Given the description of an element on the screen output the (x, y) to click on. 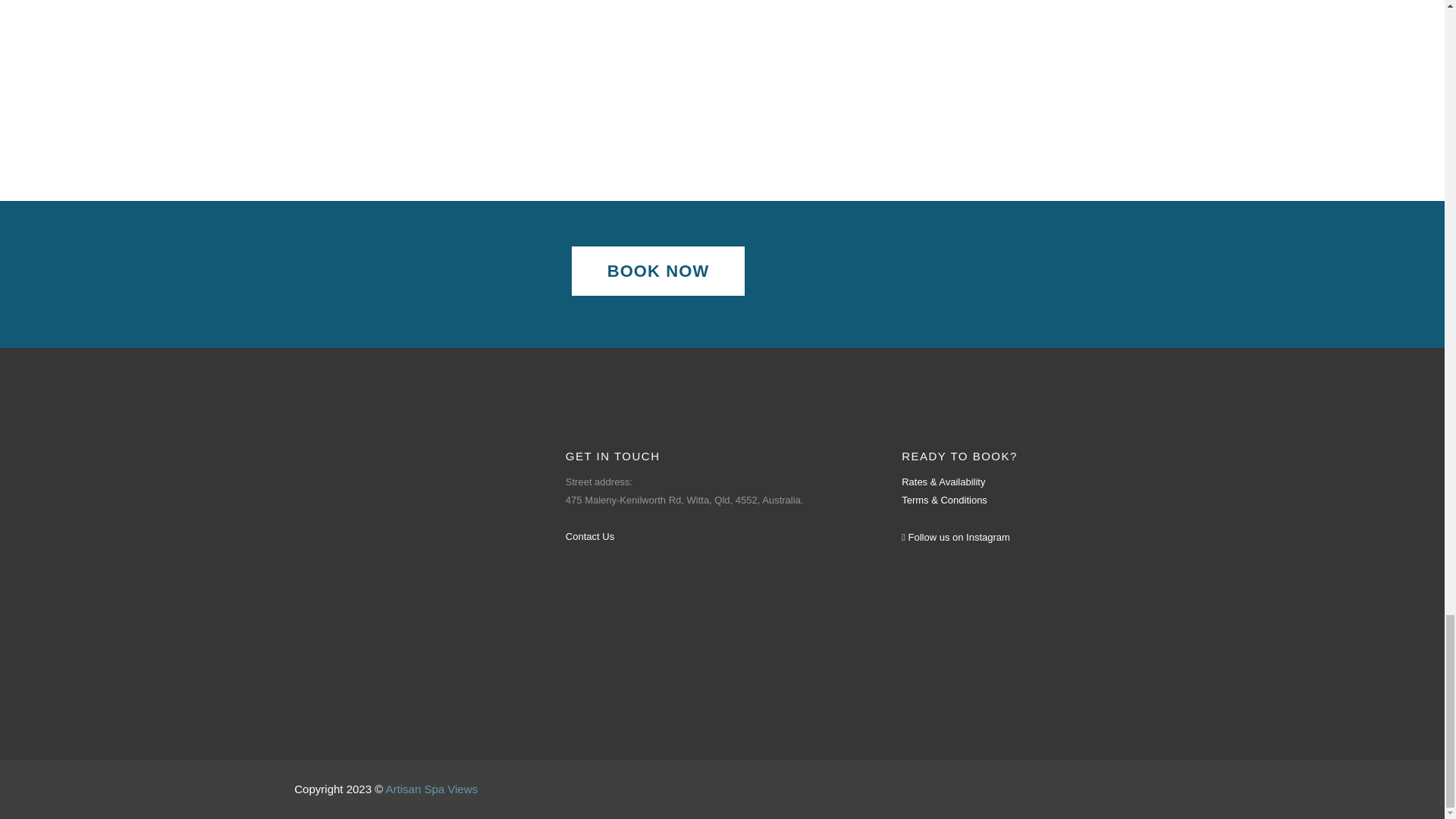
BOOK NOW (658, 270)
Contact Us (590, 536)
Artisan Spa Views (431, 788)
Follow us on Instagram (955, 537)
